Given the description of an element on the screen output the (x, y) to click on. 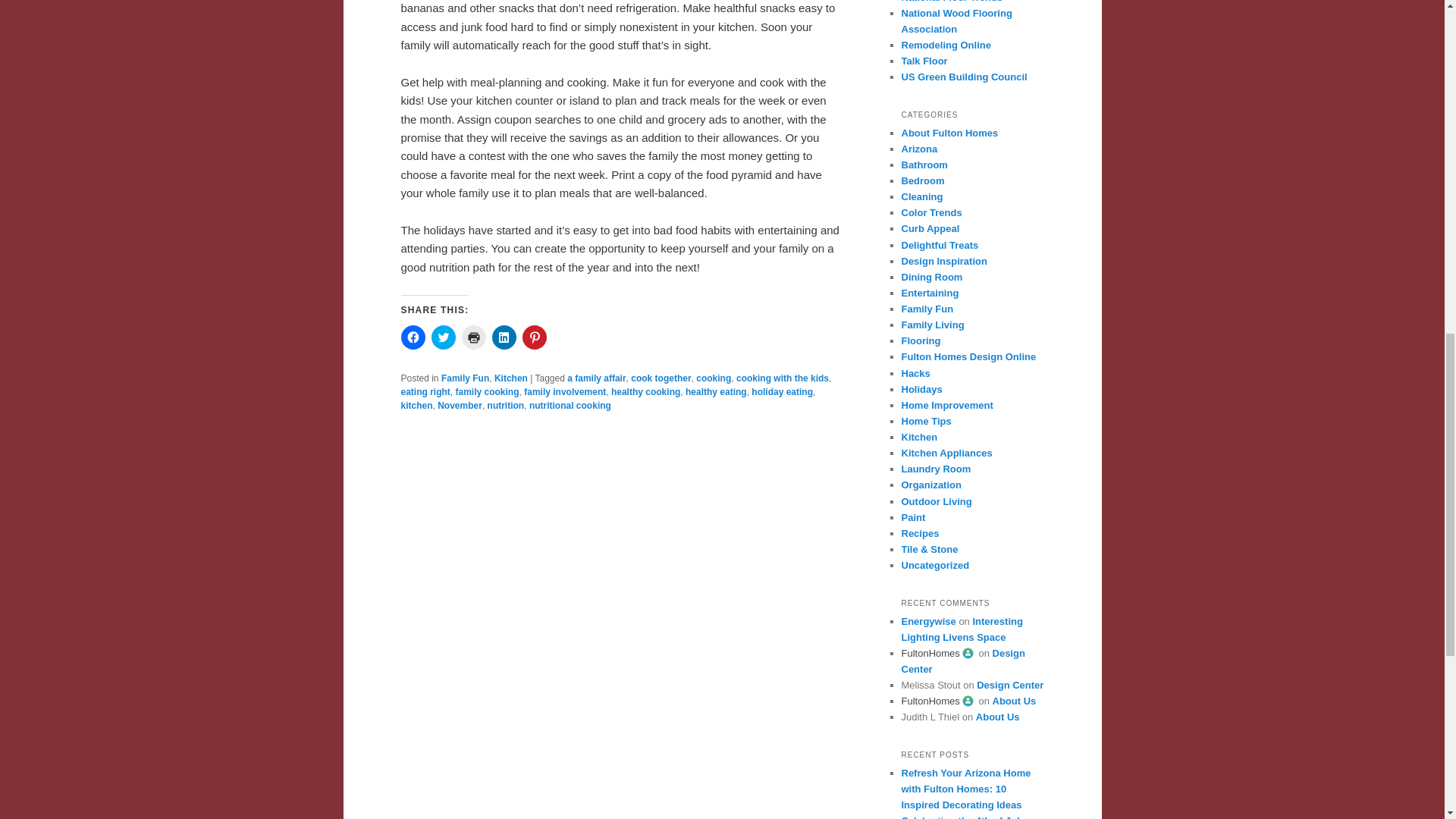
Click to share on LinkedIn (503, 337)
nutrition (505, 405)
Click to share on Twitter (442, 337)
nutritional cooking (570, 405)
healthy eating (715, 391)
Family Fun (465, 378)
holiday eating (781, 391)
kitchen (416, 405)
healthy cooking (645, 391)
family involvement (564, 391)
